Given the description of an element on the screen output the (x, y) to click on. 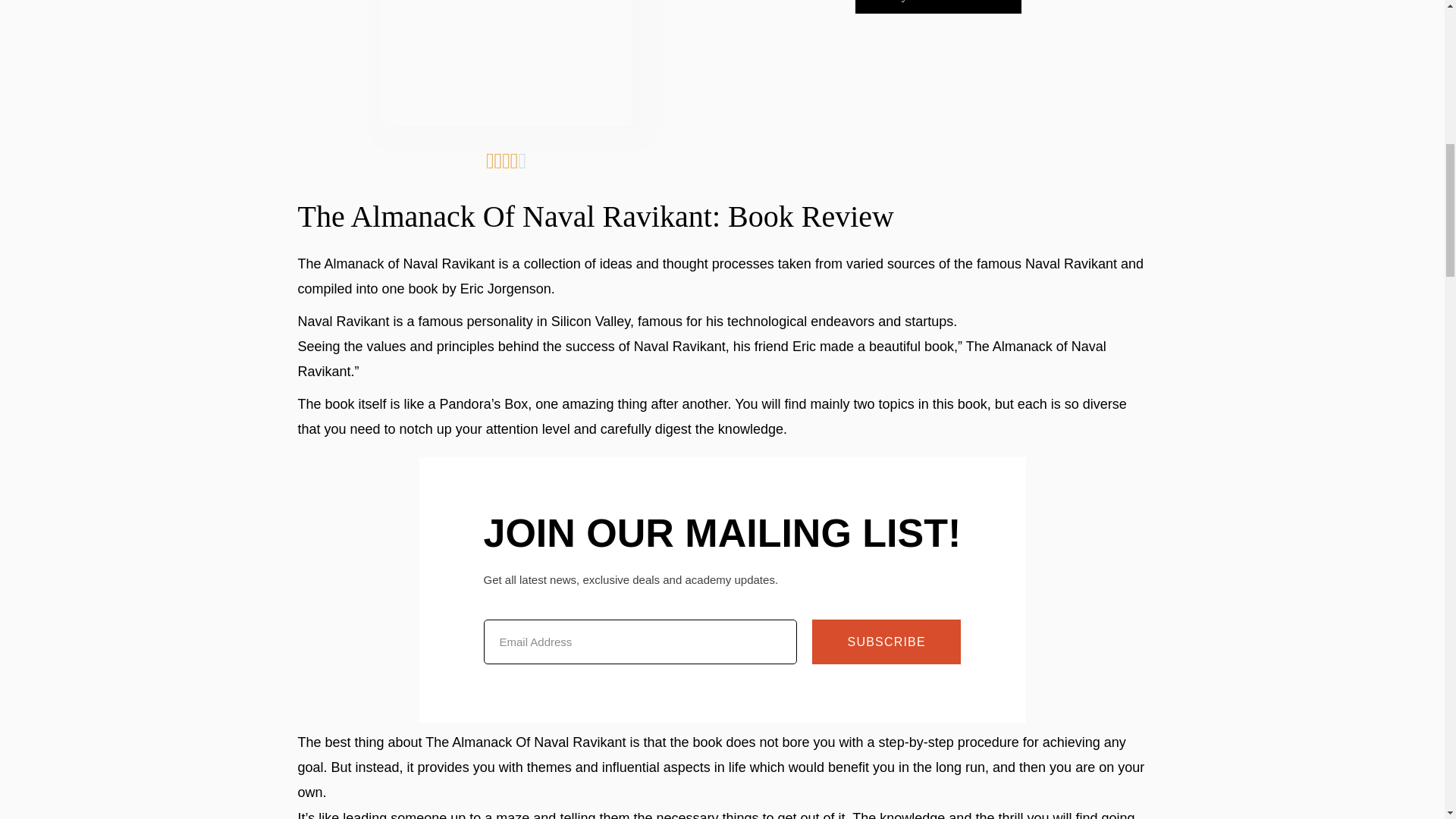
Buy from Amazon (939, 6)
SUBSCRIBE (886, 641)
